Given the description of an element on the screen output the (x, y) to click on. 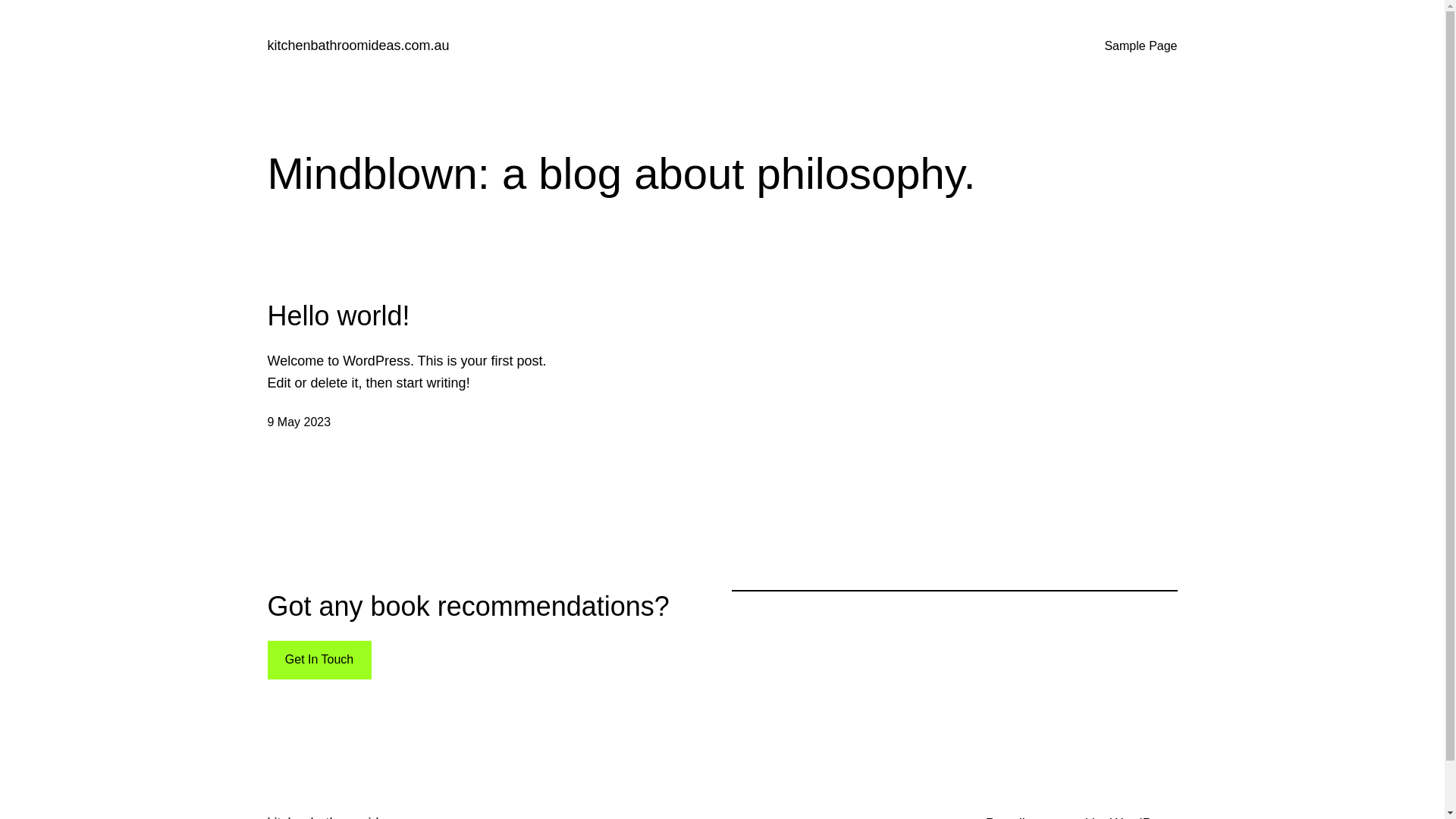
Hello world! Element type: text (337, 315)
9 May 2023 Element type: text (298, 421)
Get In Touch Element type: text (318, 659)
kitchenbathroomideas.com.au Element type: text (357, 45)
Sample Page Element type: text (1140, 46)
